Given the description of an element on the screen output the (x, y) to click on. 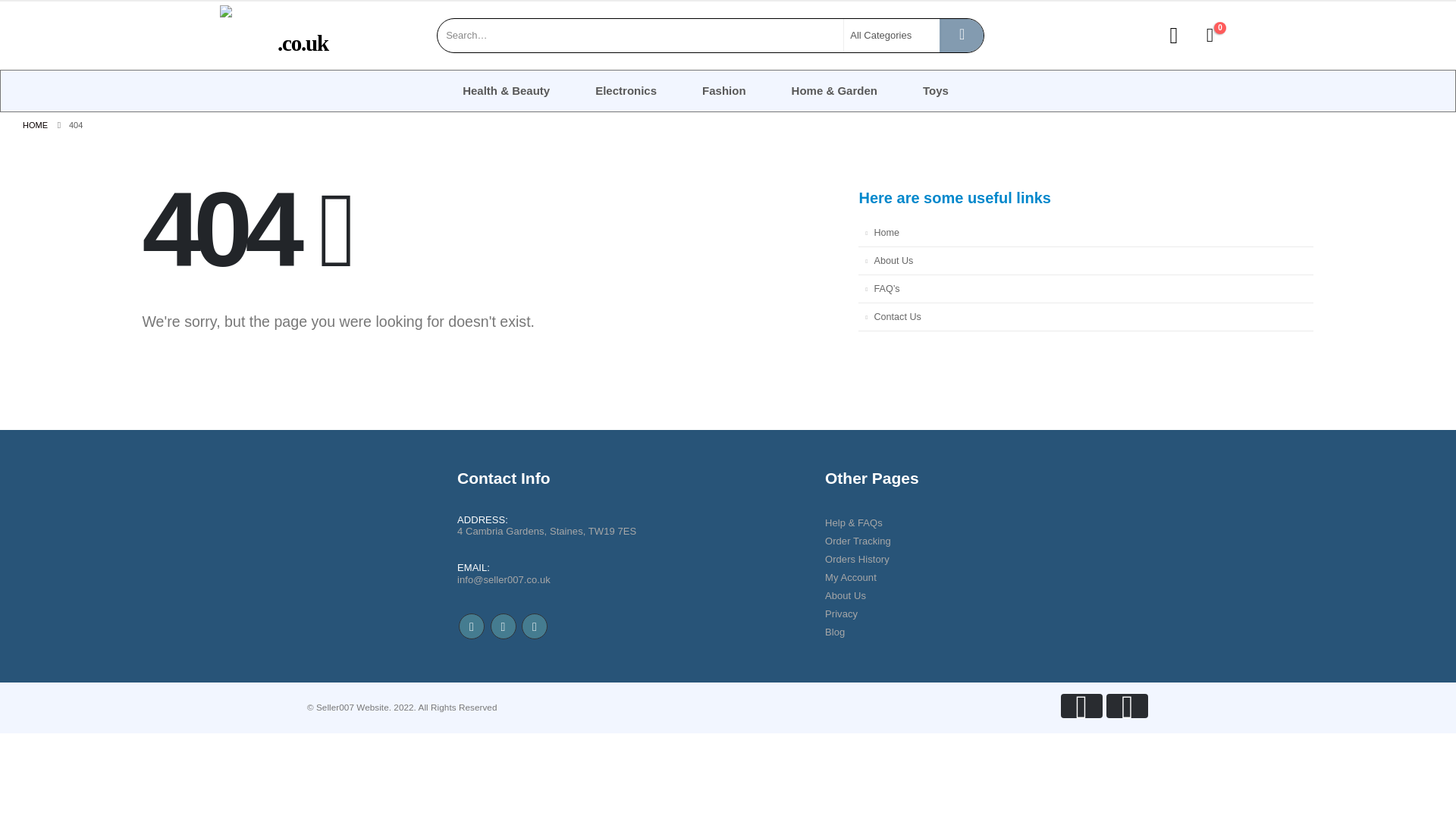
Fashion (745, 90)
Twitter (502, 626)
Seller007 - Buy With Confidence (250, 35)
Search (961, 35)
My Account (858, 577)
Privacy (858, 614)
Go to Home Page (35, 125)
Toys (957, 90)
Facebook (471, 626)
Electronics (648, 90)
